Given the description of an element on the screen output the (x, y) to click on. 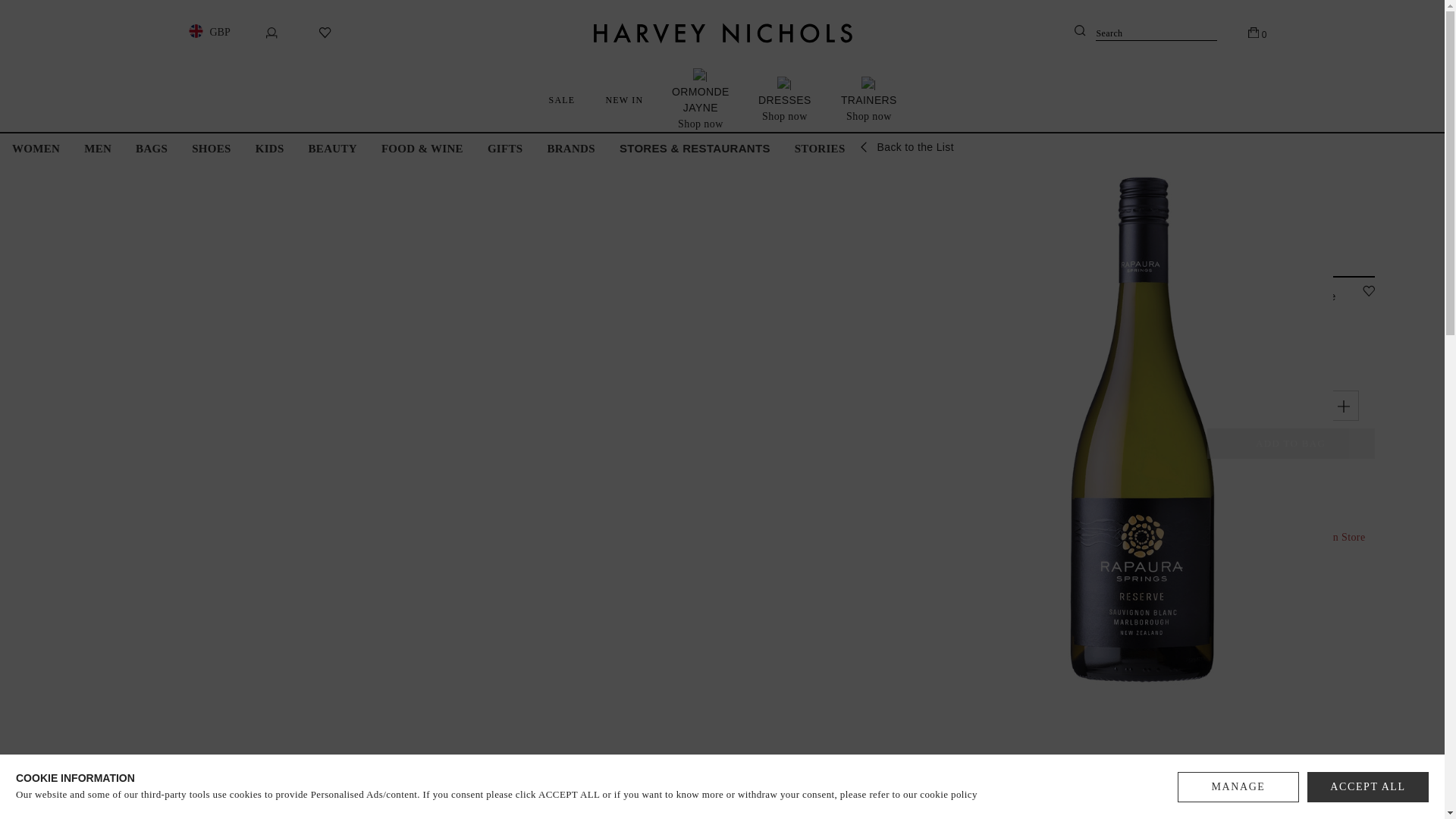
Add to Bag (1290, 443)
GBP (206, 32)
1 (1282, 405)
0 (1257, 32)
Search (1145, 32)
SALE (562, 99)
